Given the description of an element on the screen output the (x, y) to click on. 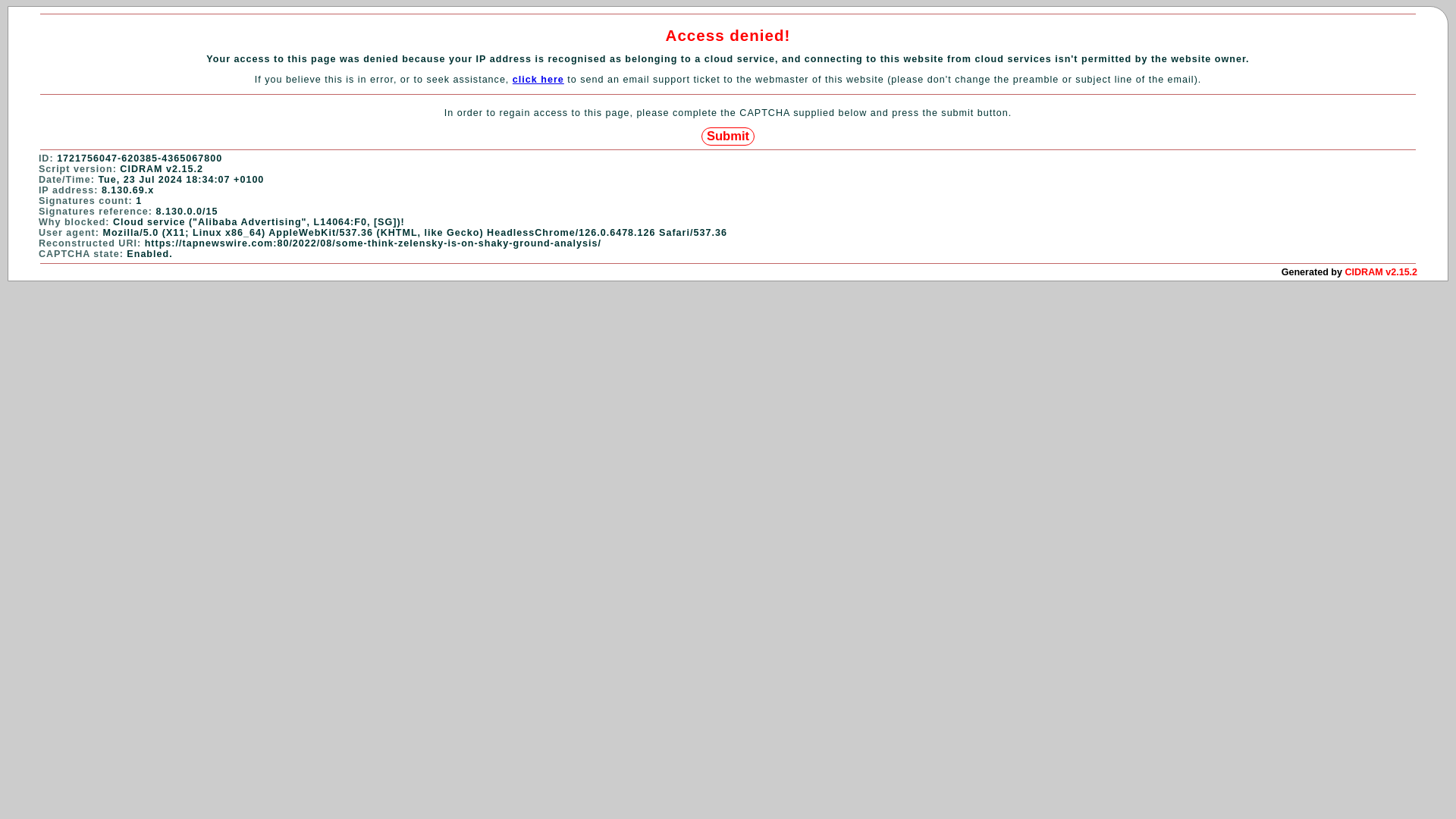
Submit (727, 136)
click here (538, 79)
Submit (727, 136)
